Given the description of an element on the screen output the (x, y) to click on. 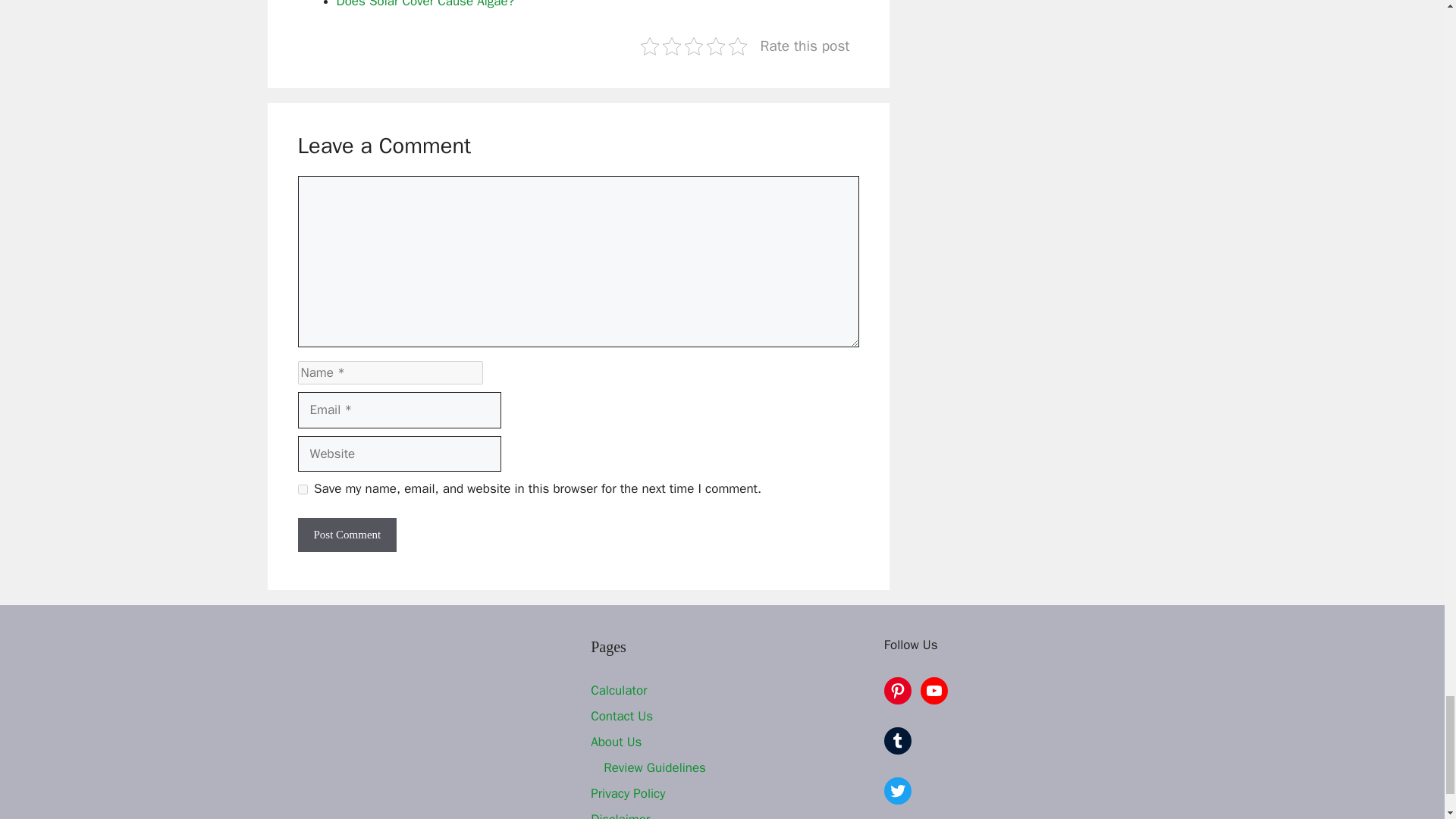
Post Comment (346, 534)
Contact Us (621, 715)
Does Solar Cover Cause Algae? (425, 4)
Post Comment (346, 534)
Calculator (618, 690)
yes (302, 489)
About Us (616, 741)
